Given the description of an element on the screen output the (x, y) to click on. 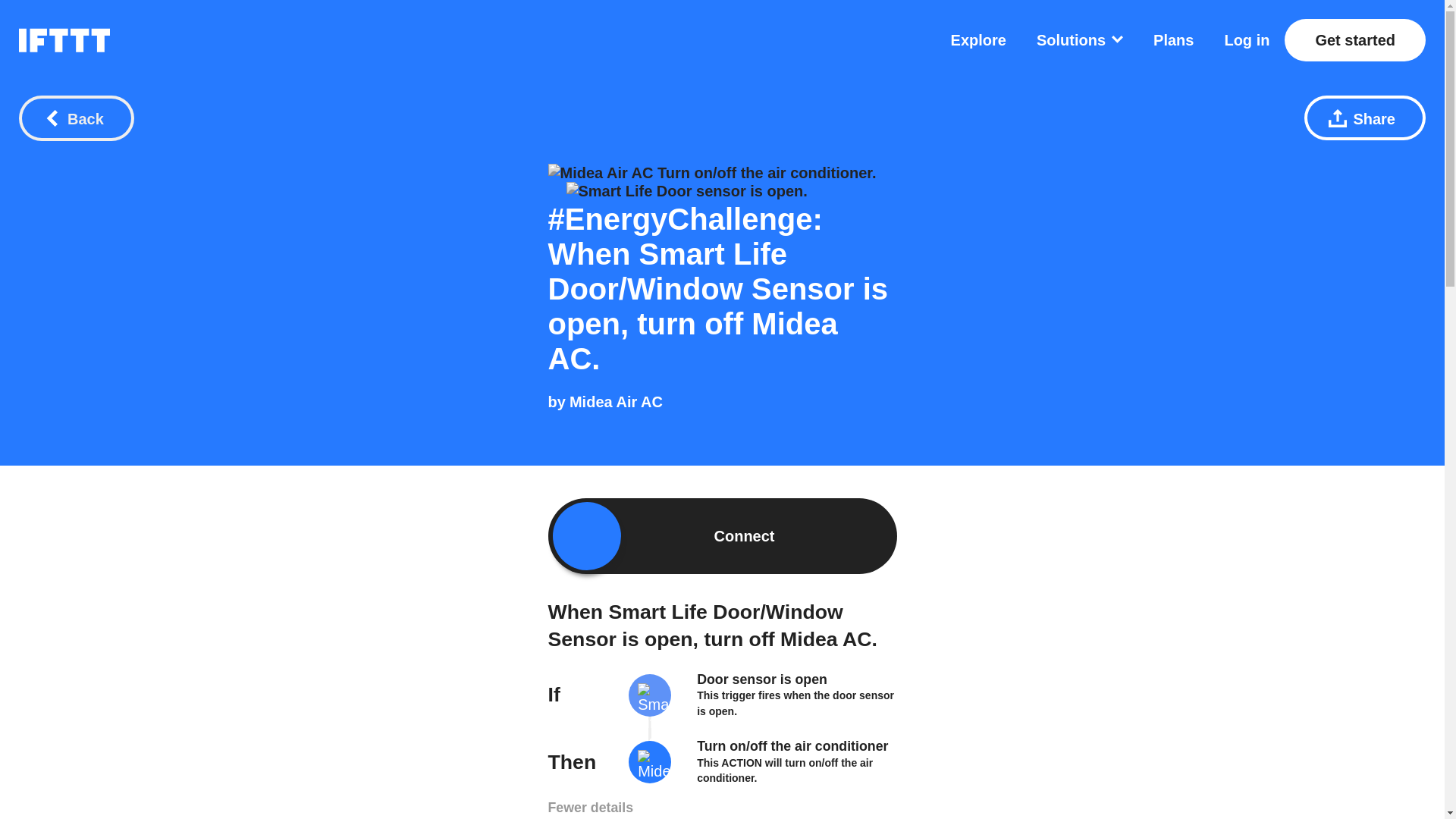
Solutions (1079, 39)
Smart Life (649, 716)
Get started (1354, 39)
Learn more: Smart Life - Door sensor is open (795, 702)
Log in (1246, 39)
Plans (1173, 39)
This trigger fires when the door sensor is open. (795, 702)
Home (64, 40)
Smart Life Door sensor is open. (686, 190)
Get started (1354, 39)
Explore (978, 39)
Door sensor is open (762, 679)
Share (1364, 117)
Door sensor is open (762, 679)
Back (75, 117)
